Given the description of an element on the screen output the (x, y) to click on. 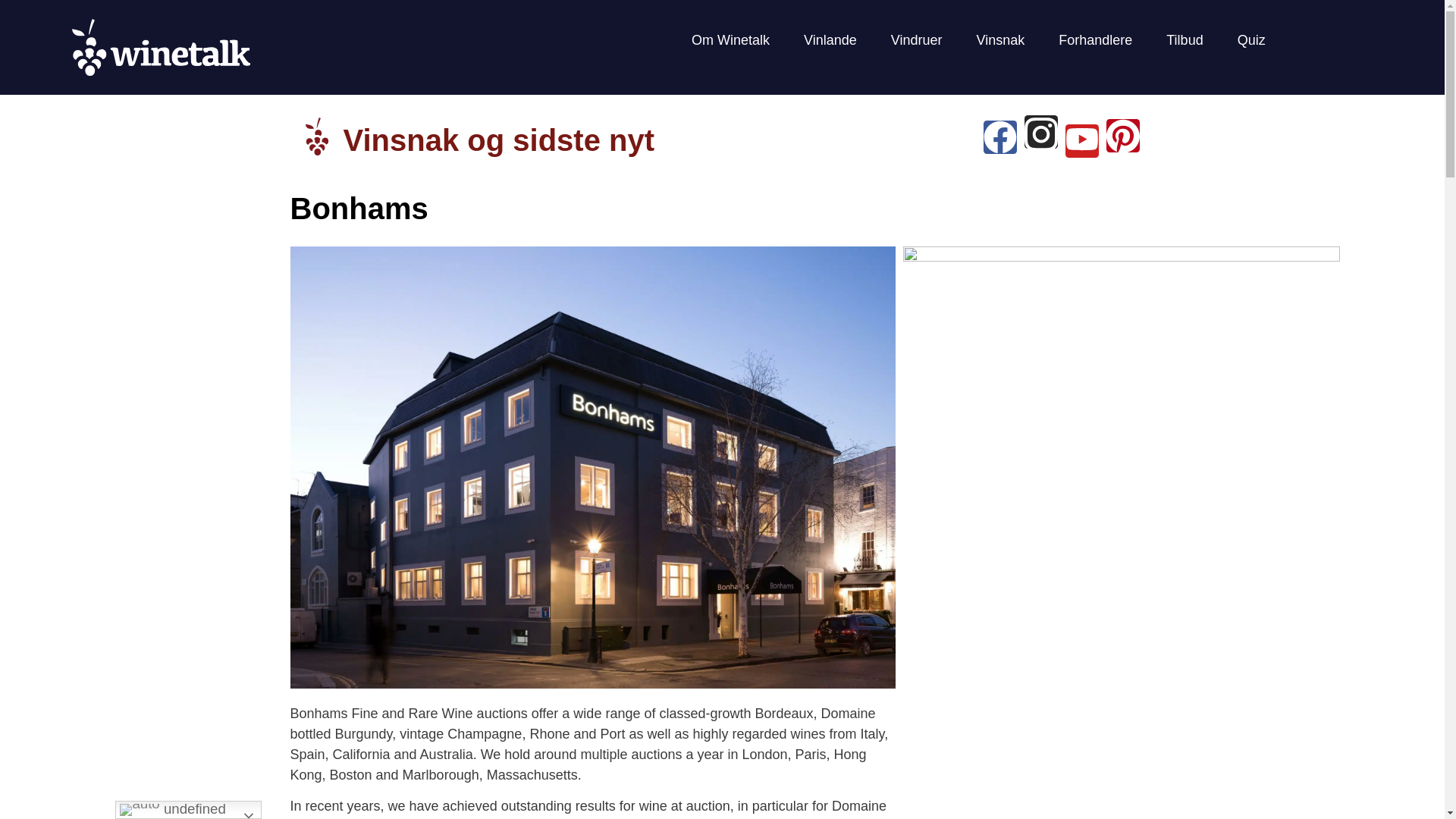
Vindruer (917, 40)
Vinsnak (1000, 40)
Vinlande (830, 40)
Om Winetalk (730, 40)
Tilbud (1184, 40)
Quiz (1252, 40)
Forhandlere (1095, 40)
